Given the description of an element on the screen output the (x, y) to click on. 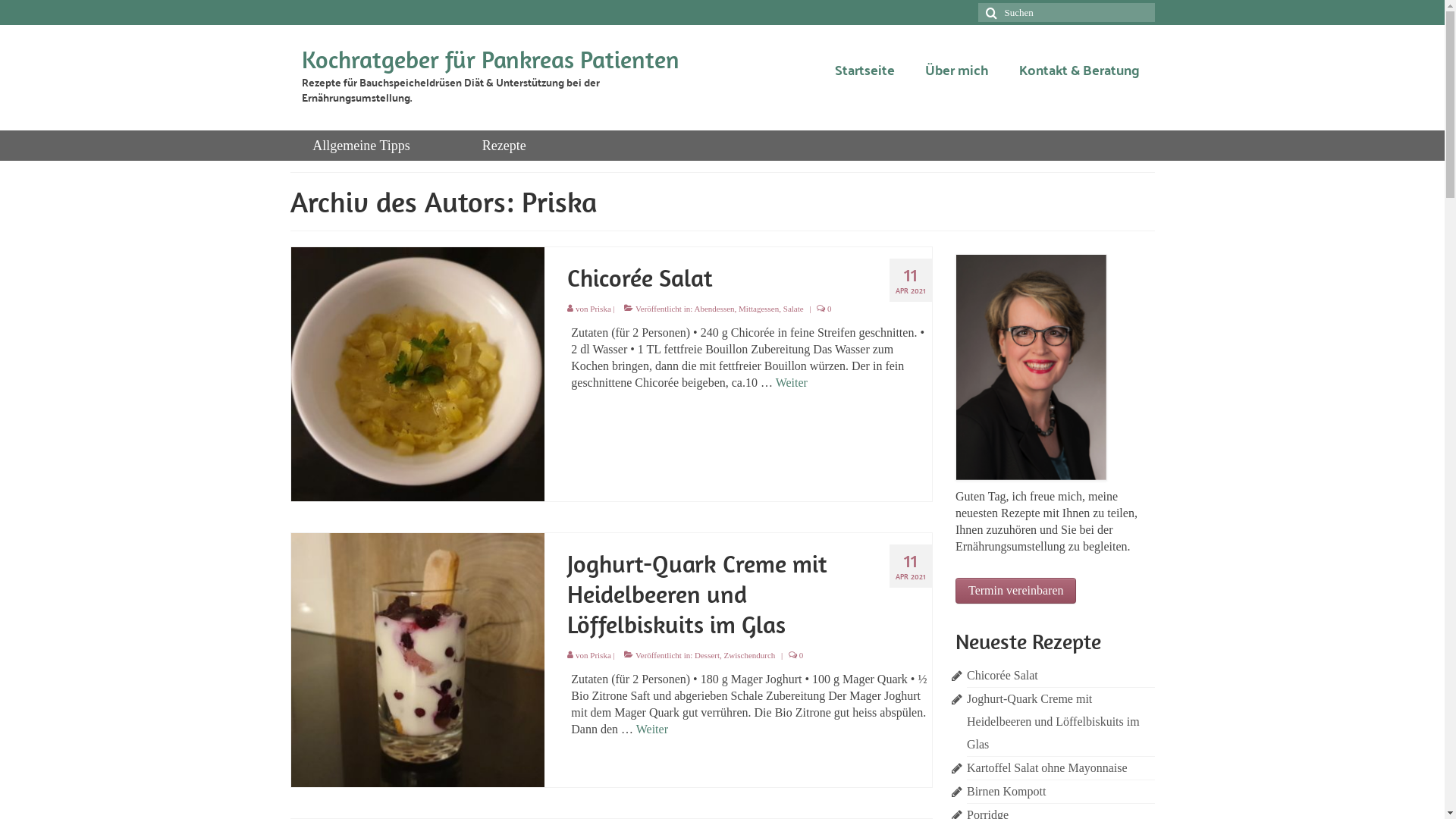
Zwischendurch Element type: text (749, 654)
Abendessen Element type: text (713, 308)
Dessert Element type: text (706, 654)
Kartoffel Salat ohne Mayonnaise Element type: text (1046, 767)
Weiter Element type: text (652, 728)
Salate Element type: text (793, 308)
Startseite Element type: text (864, 69)
Allgemeine Tipps Element type: text (360, 145)
Birnen Kompott Element type: text (1005, 790)
Priska Element type: text (600, 654)
Mittagessen Element type: text (758, 308)
Termin vereinbaren Element type: text (1015, 590)
Priska Element type: text (600, 308)
Rezepte Element type: text (504, 145)
Kontakt & Beratung Element type: text (1079, 69)
Weiter Element type: text (791, 382)
